Given the description of an element on the screen output the (x, y) to click on. 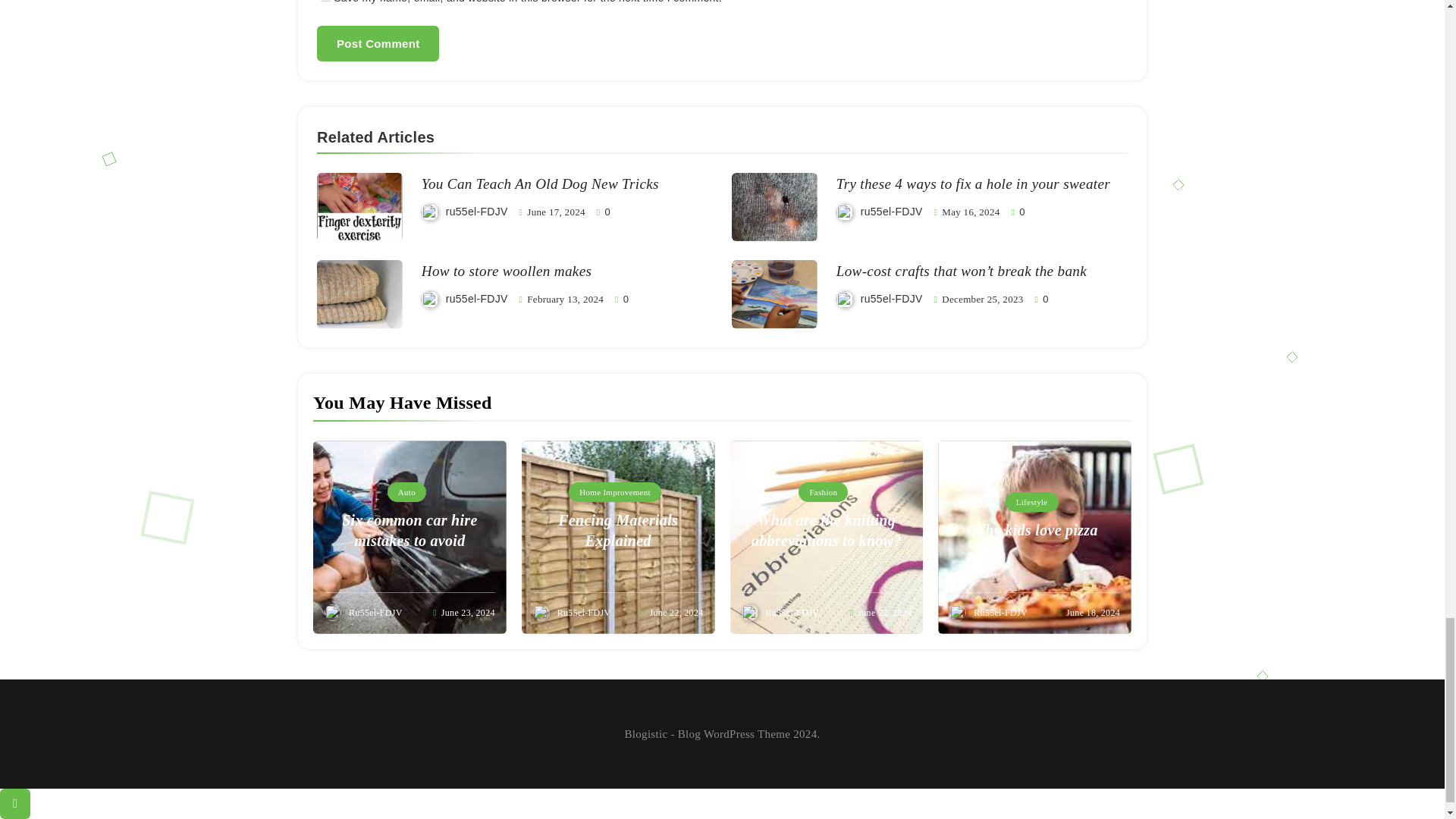
Post Comment (378, 43)
